Given the description of an element on the screen output the (x, y) to click on. 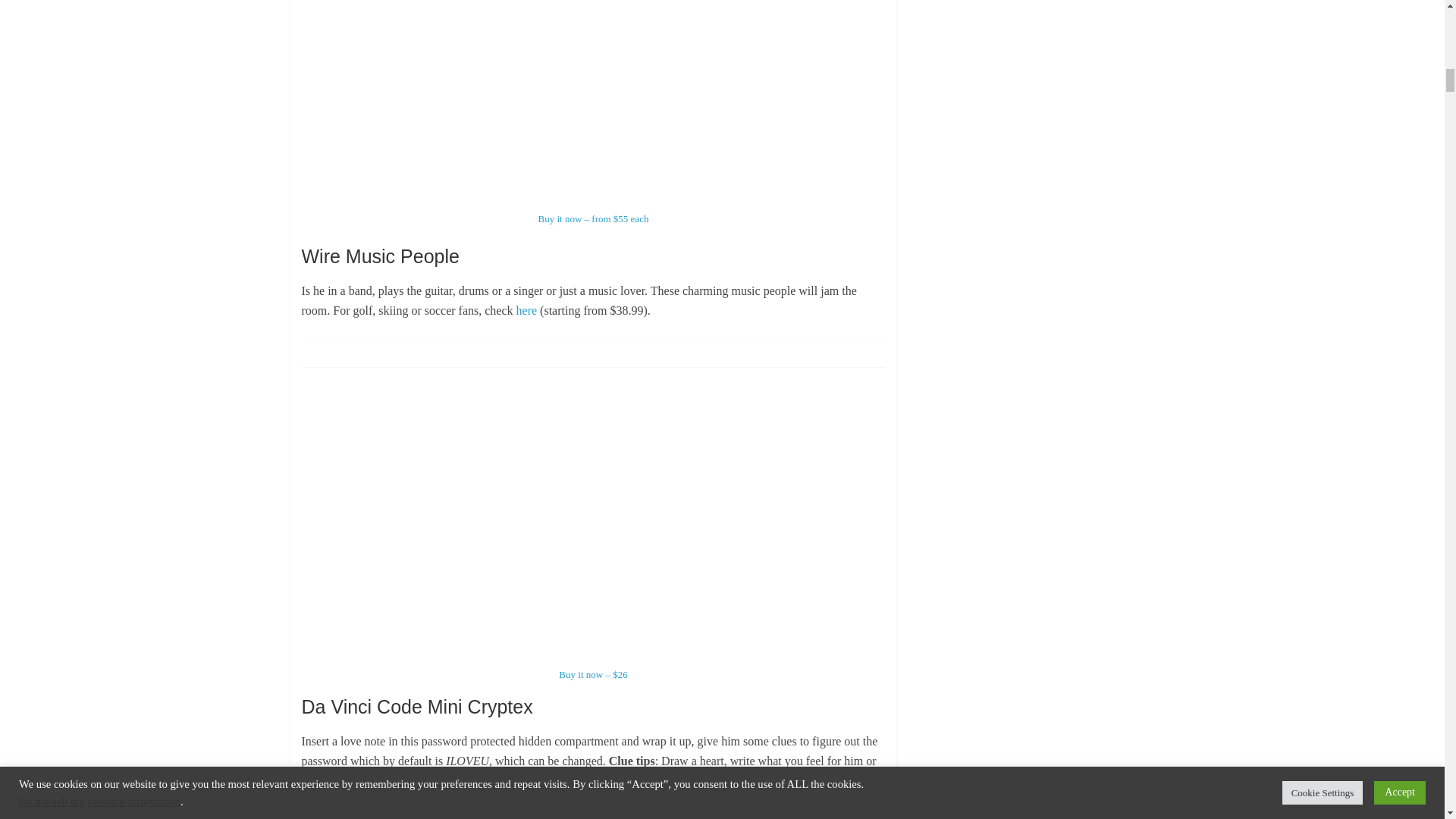
here (526, 309)
